Given the description of an element on the screen output the (x, y) to click on. 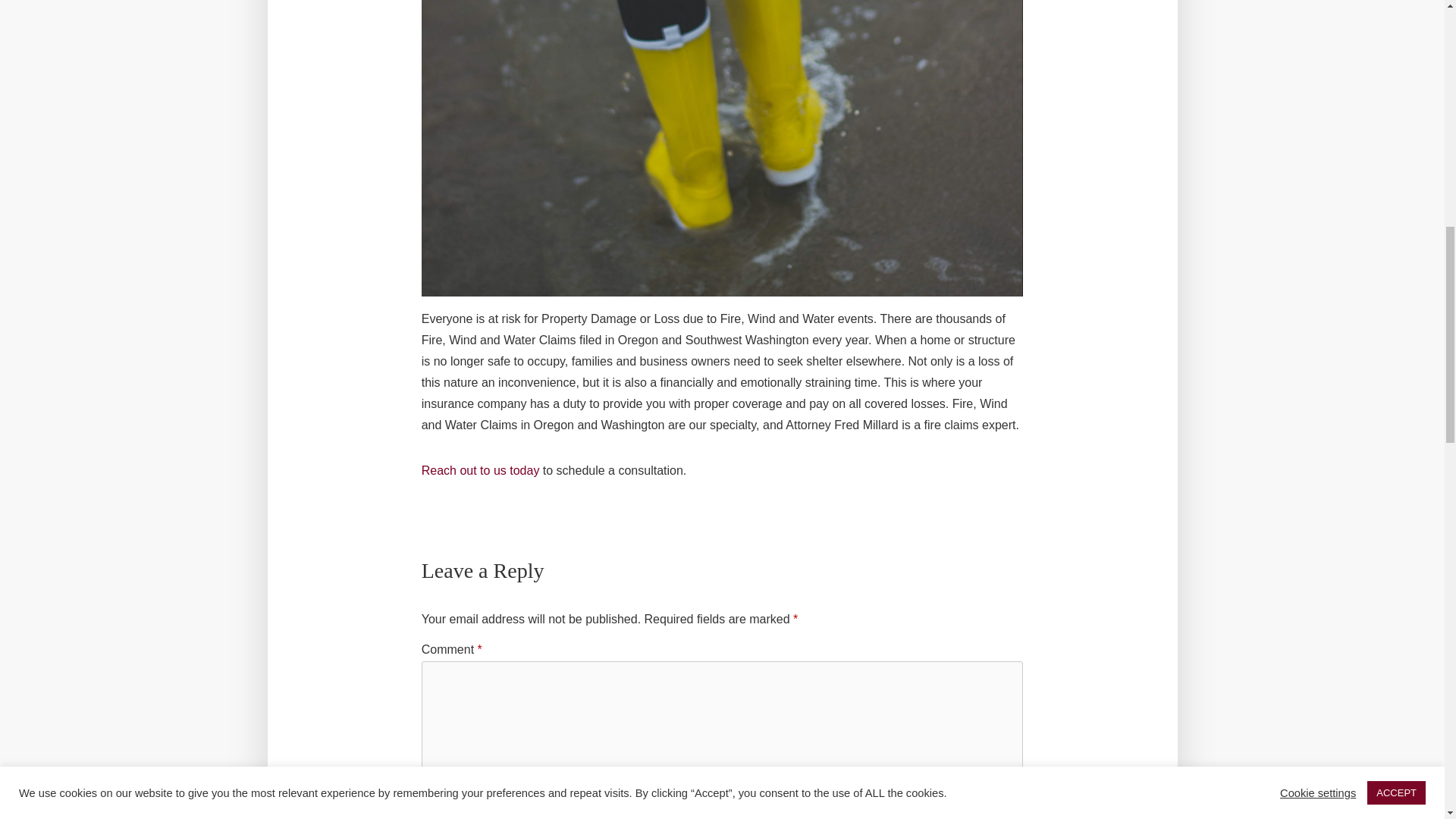
Reach out to us today (481, 470)
